Given the description of an element on the screen output the (x, y) to click on. 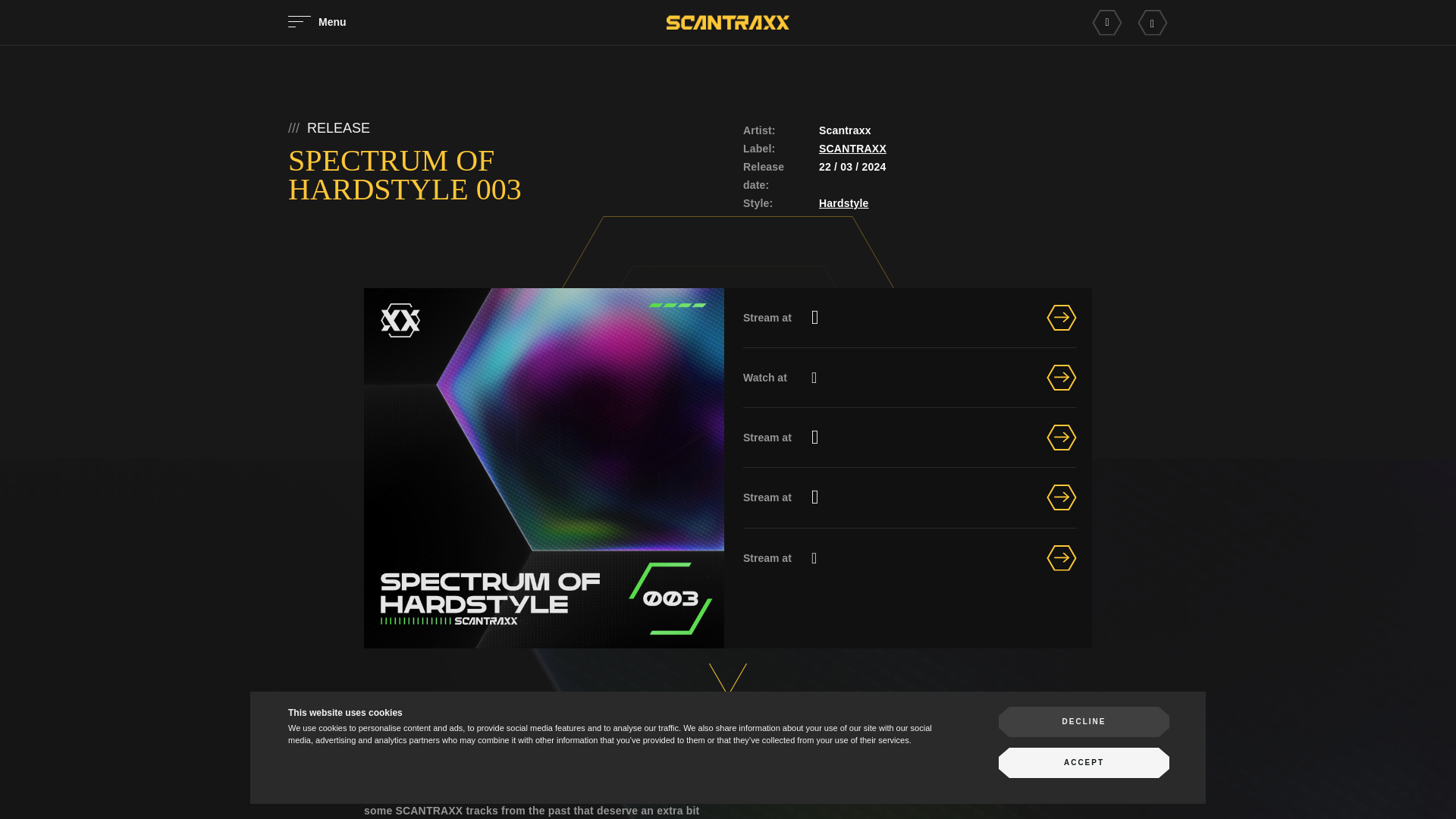
DECLINE (1083, 721)
ACCEPT (1083, 762)
